Given the description of an element on the screen output the (x, y) to click on. 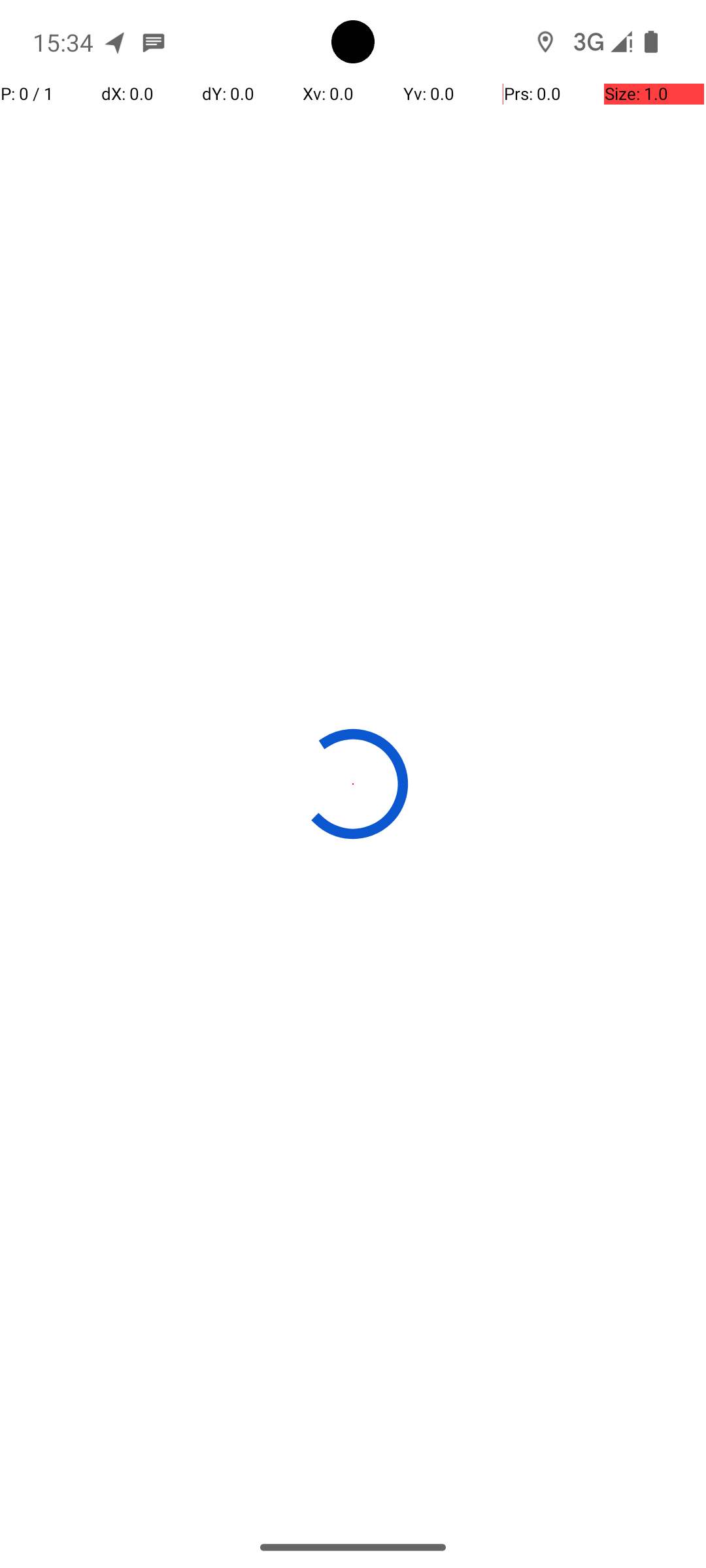
Help Element type: android.view.ViewGroup (352, 138)
SMS Messenger notification: Noa Mohamed Element type: android.widget.ImageView (153, 41)
